Given the description of an element on the screen output the (x, y) to click on. 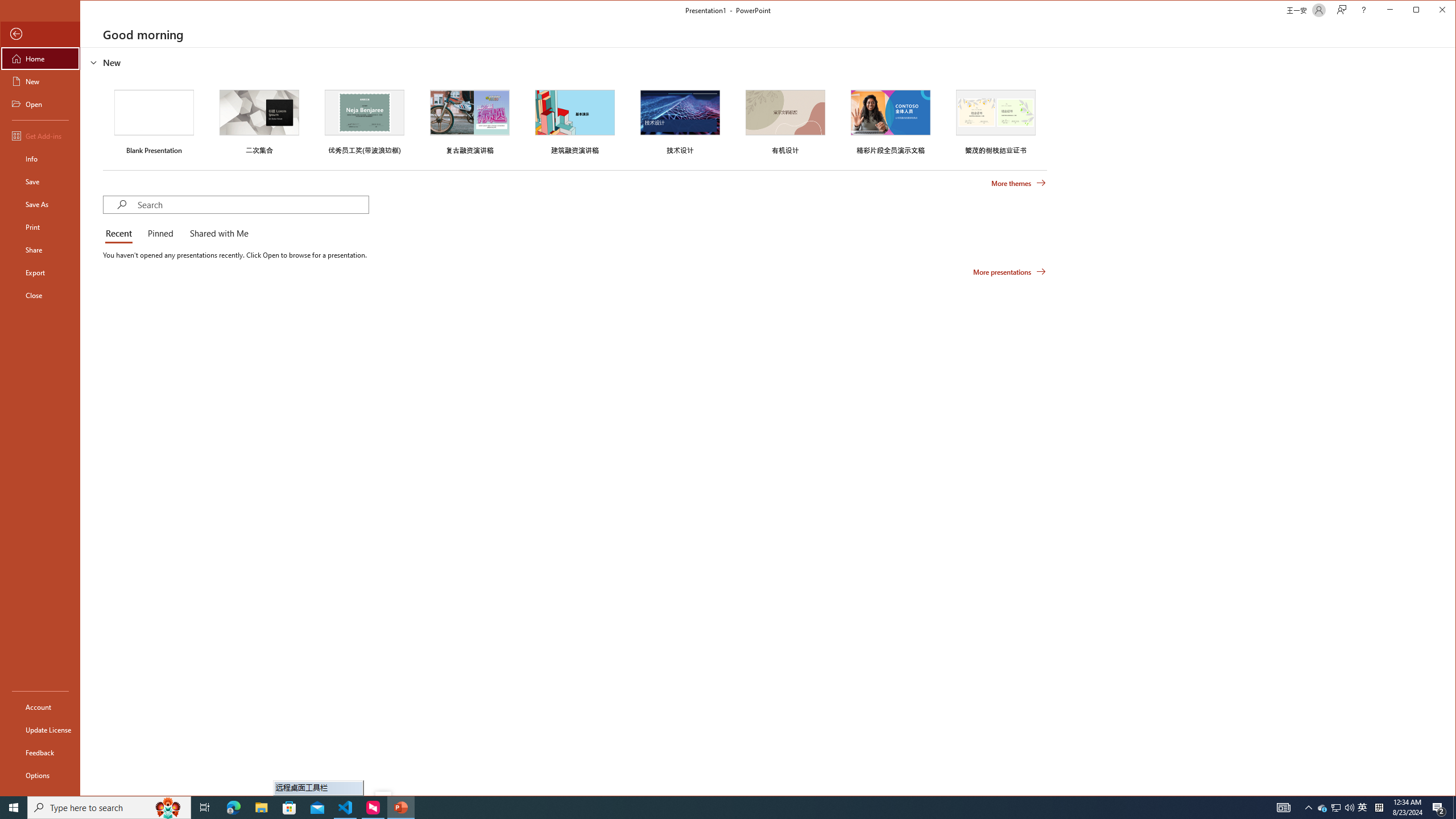
More themes (1018, 183)
Back (40, 34)
Pinned (160, 234)
Export (40, 272)
Feedback (40, 752)
Recent (121, 234)
Get Add-ins (40, 135)
